Given the description of an element on the screen output the (x, y) to click on. 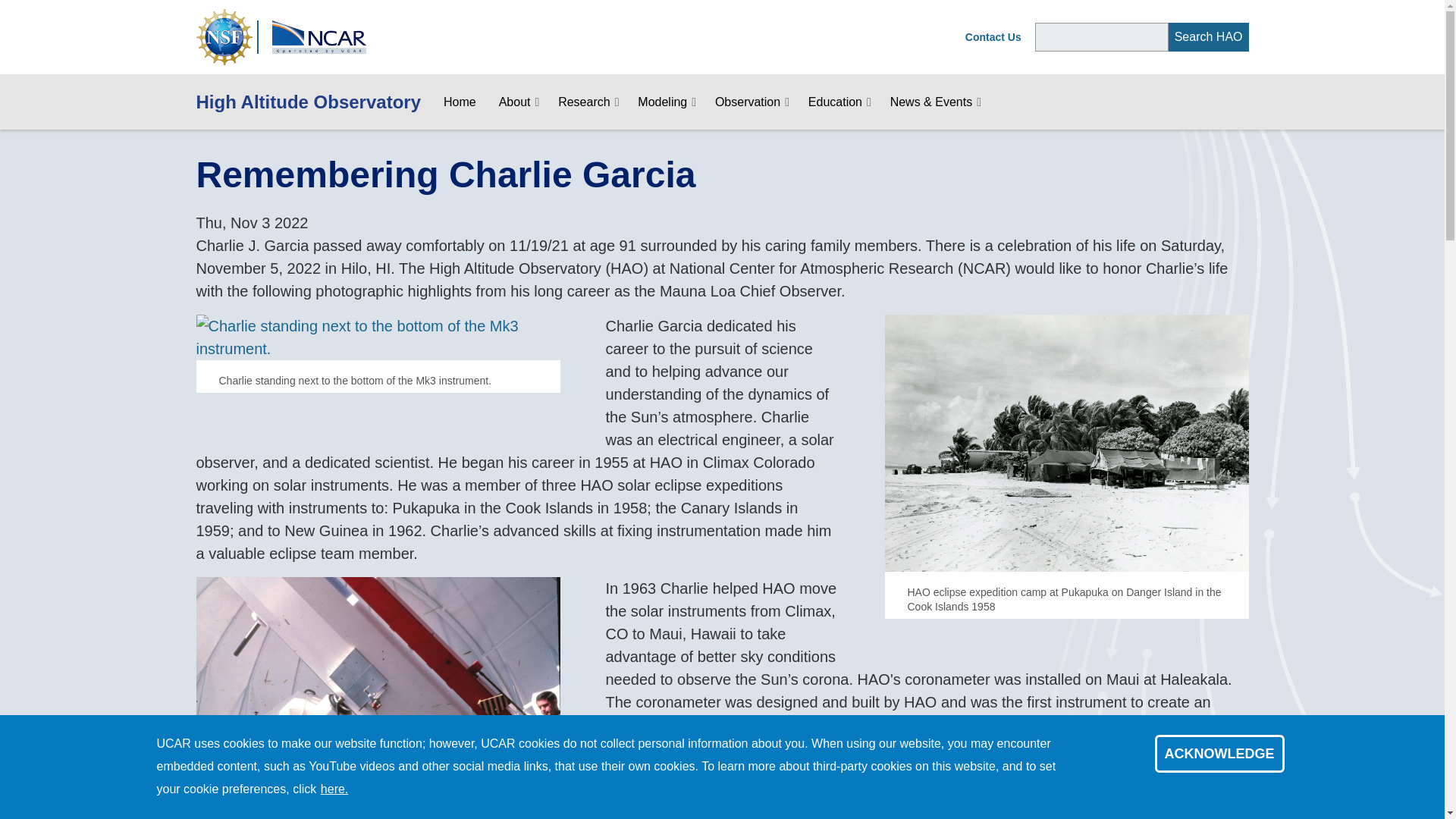
HAO's Sun-Earth modeling contributions. (662, 102)
Education materials about the Sun for K-12. (834, 102)
Research (583, 102)
here. (333, 789)
ACKNOWLEDGE (1219, 753)
Access to HAO's observational facilities and their data. (747, 102)
About (515, 102)
Contact Us (993, 37)
Modeling (662, 102)
HAO upcoming and past events; Archive of news stories (930, 102)
Home (460, 102)
Search HAO (1209, 36)
U.S. NSF Home (223, 35)
